Given the description of an element on the screen output the (x, y) to click on. 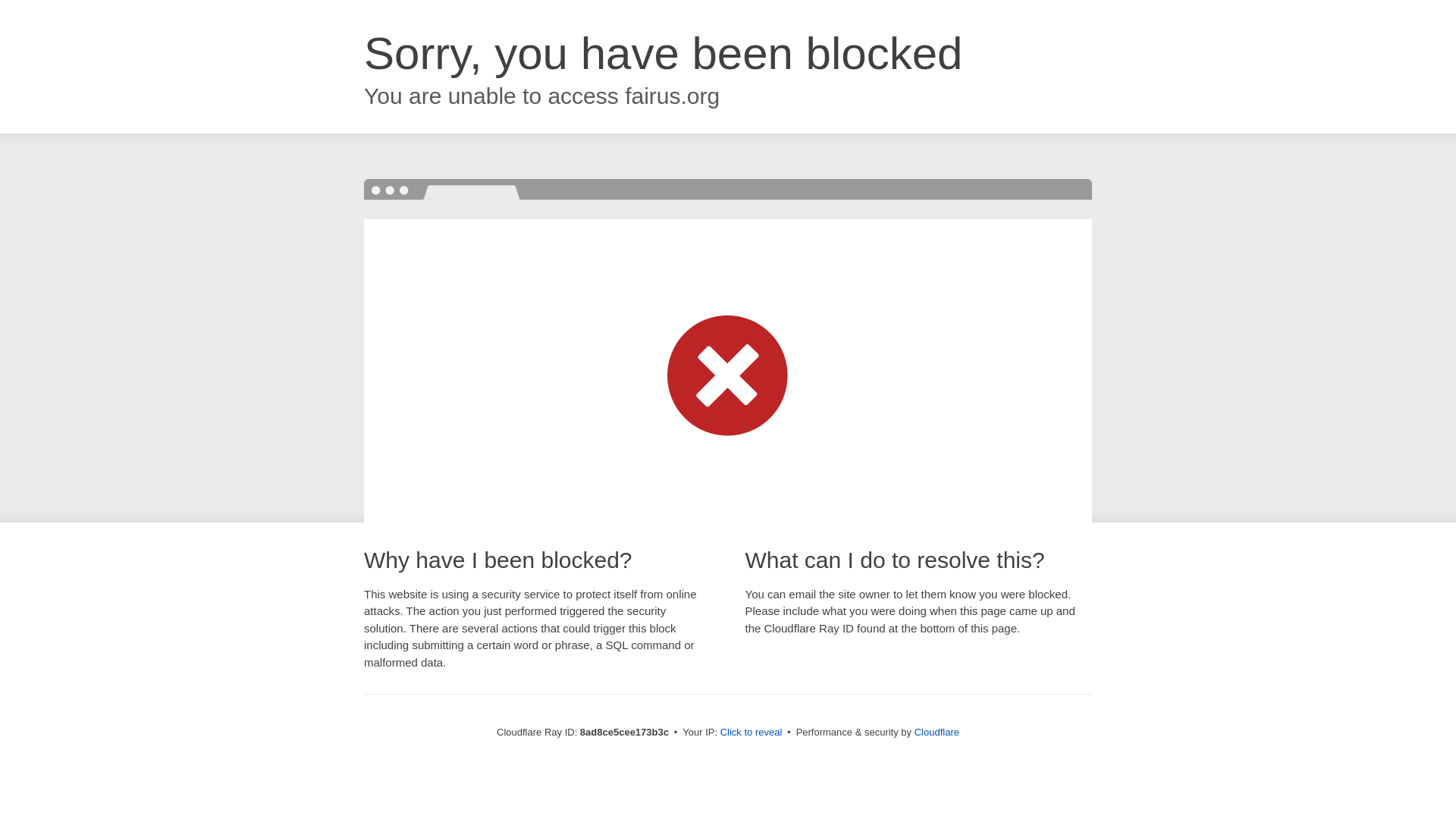
Click to reveal (751, 732)
Cloudflare (936, 731)
